Given the description of an element on the screen output the (x, y) to click on. 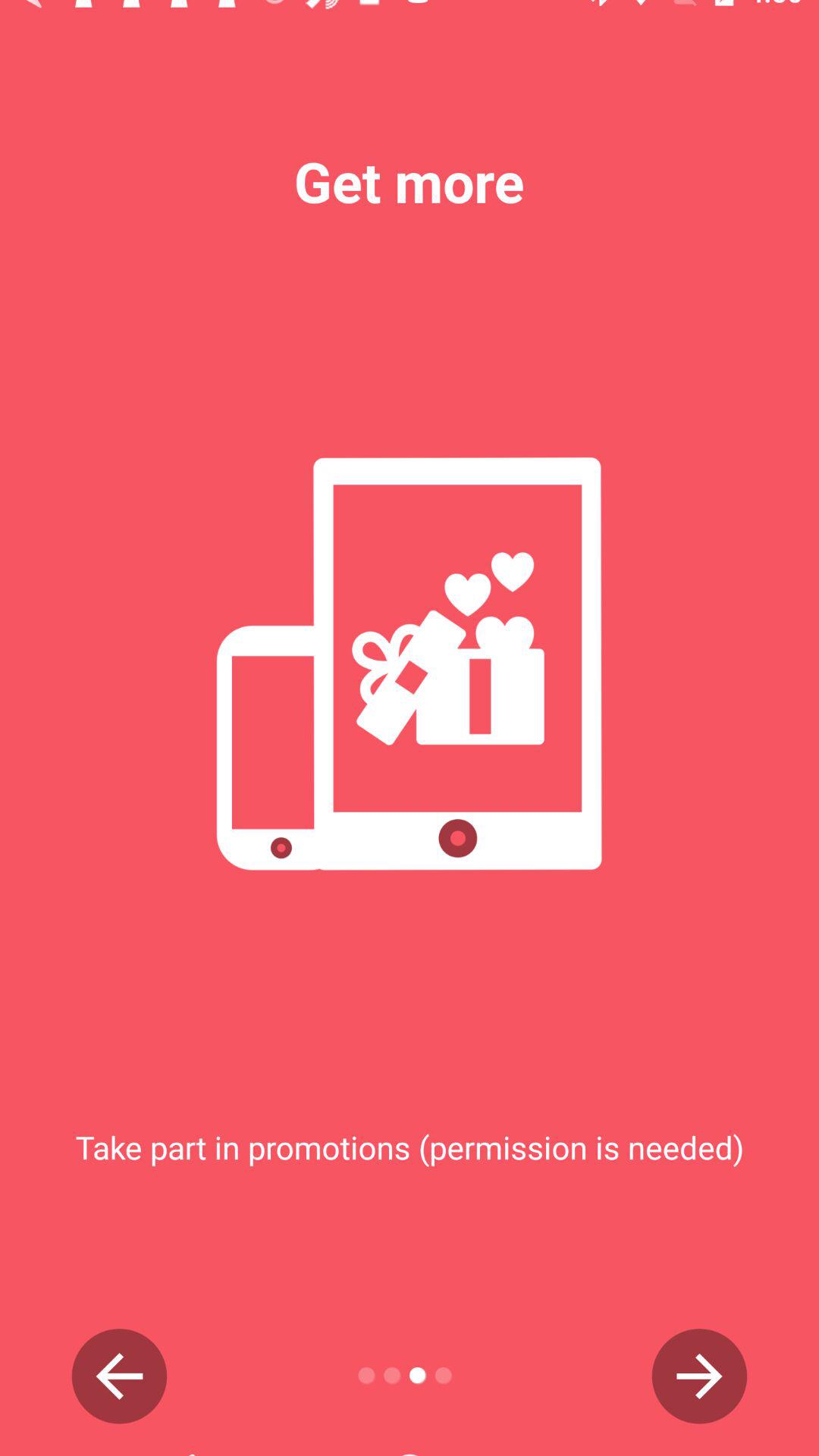
click to next (699, 1376)
